Given the description of an element on the screen output the (x, y) to click on. 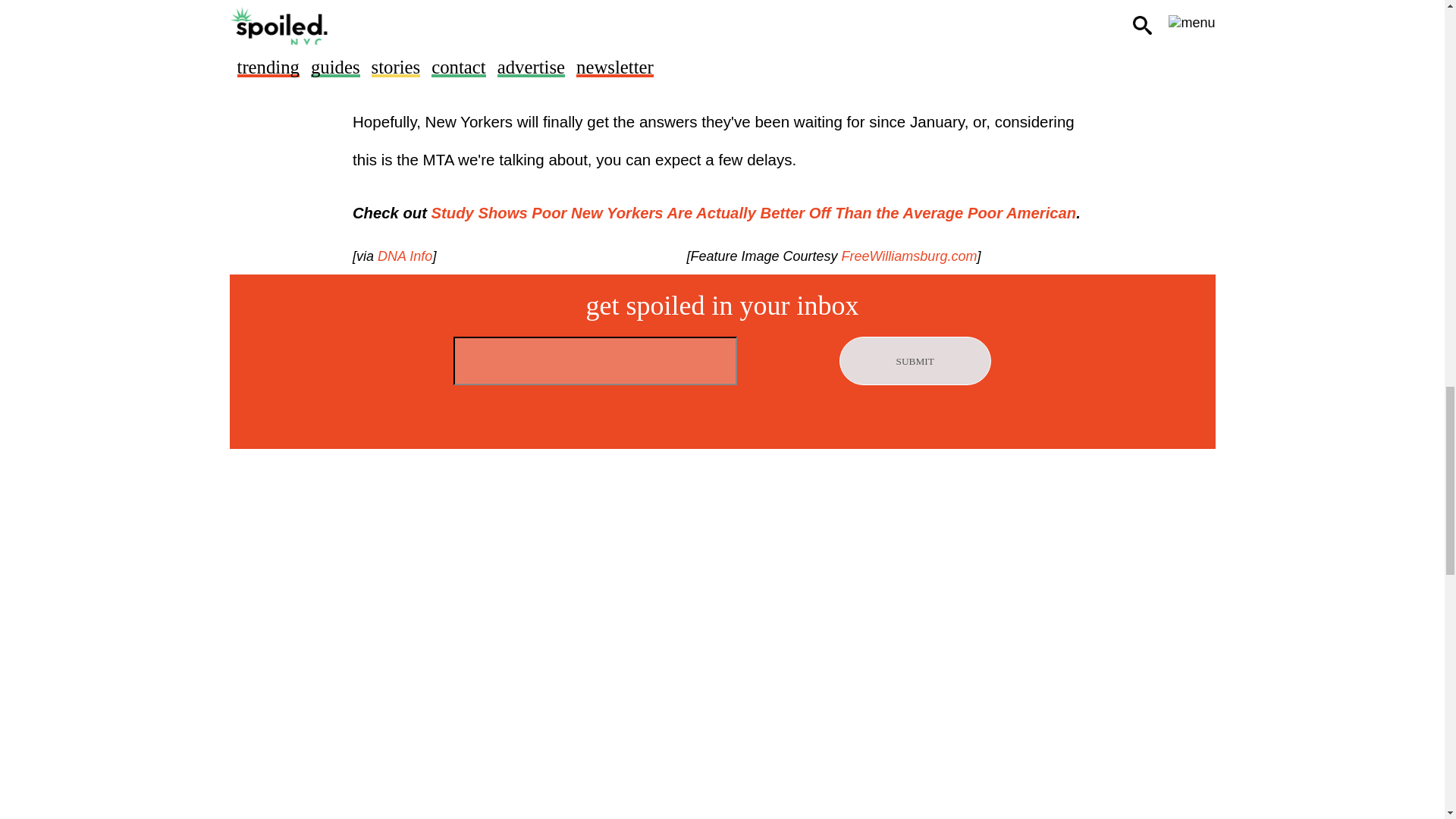
FreeWilliamsburg.com (907, 255)
DNA Info (403, 255)
SUBMIT (915, 360)
